Given the description of an element on the screen output the (x, y) to click on. 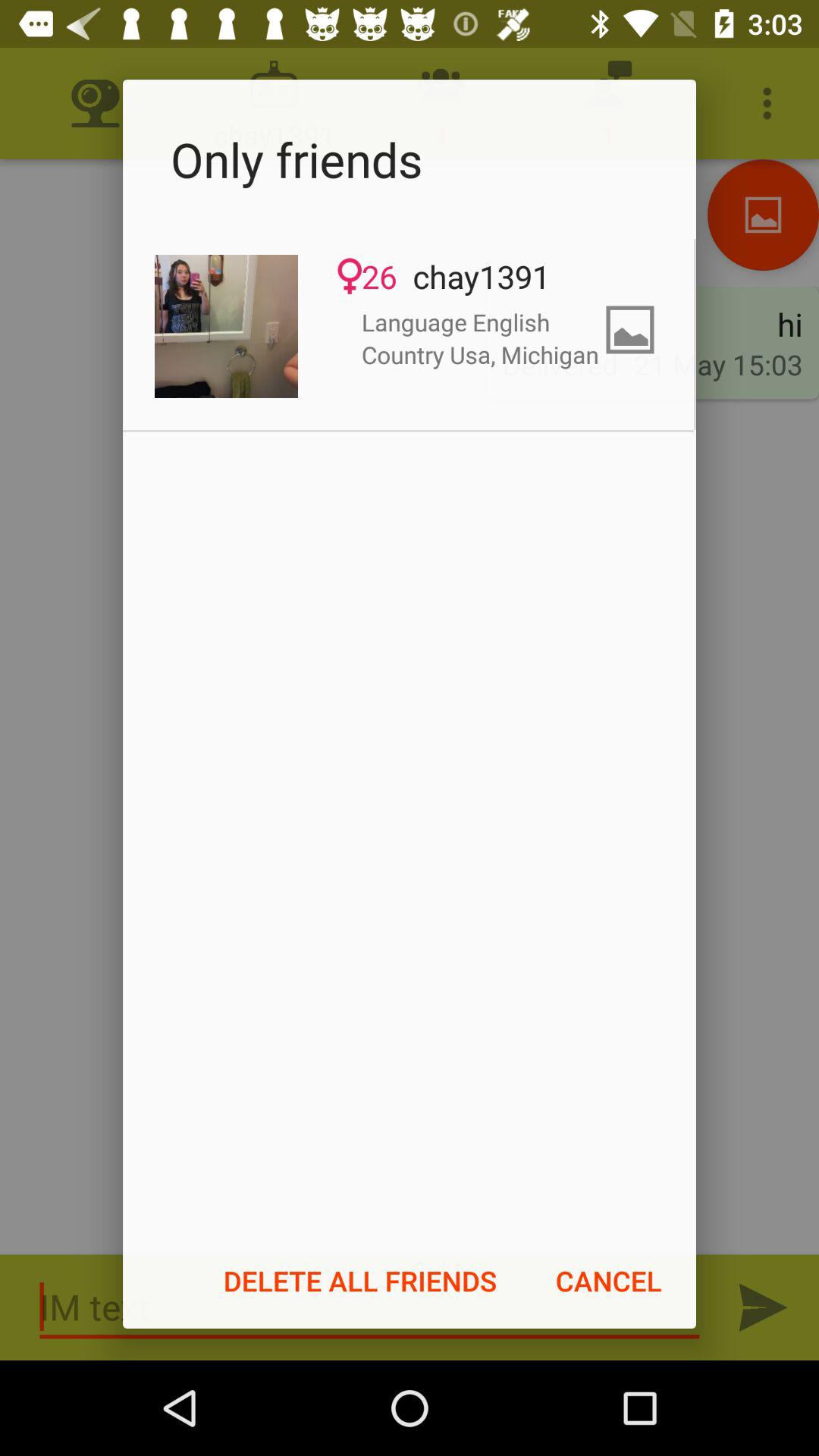
press the item to the right of delete all friends icon (608, 1280)
